Given the description of an element on the screen output the (x, y) to click on. 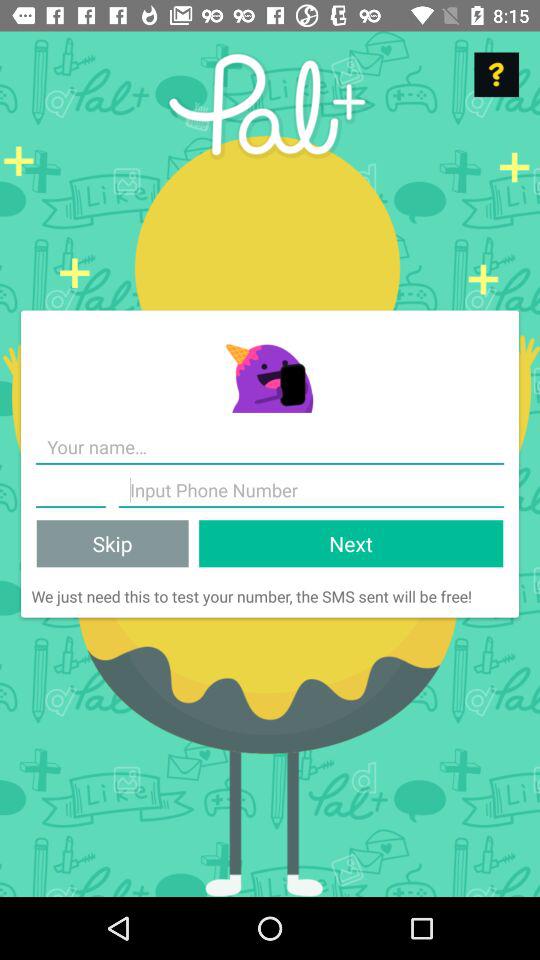
turn on the icon to the right of skip (351, 543)
